Given the description of an element on the screen output the (x, y) to click on. 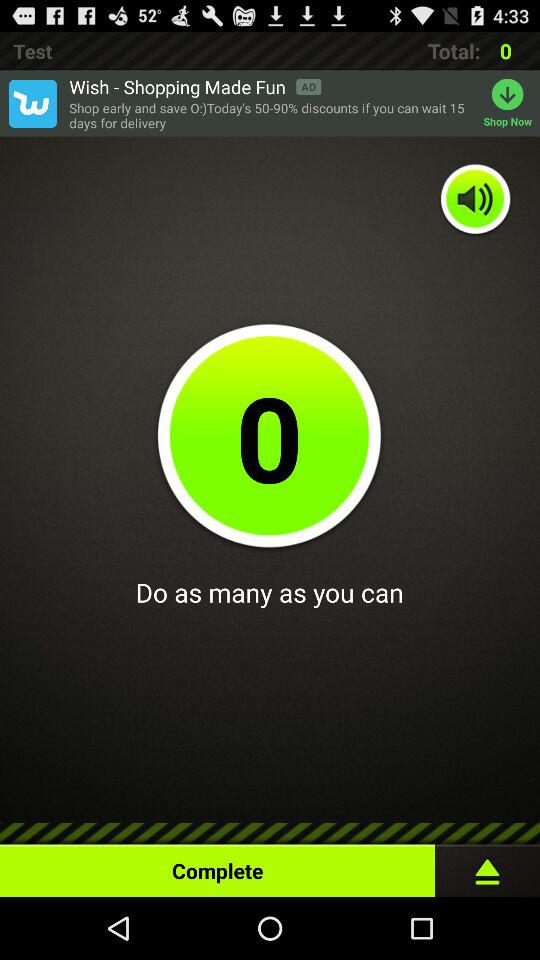
open item to the right of the shop early and item (511, 103)
